Given the description of an element on the screen output the (x, y) to click on. 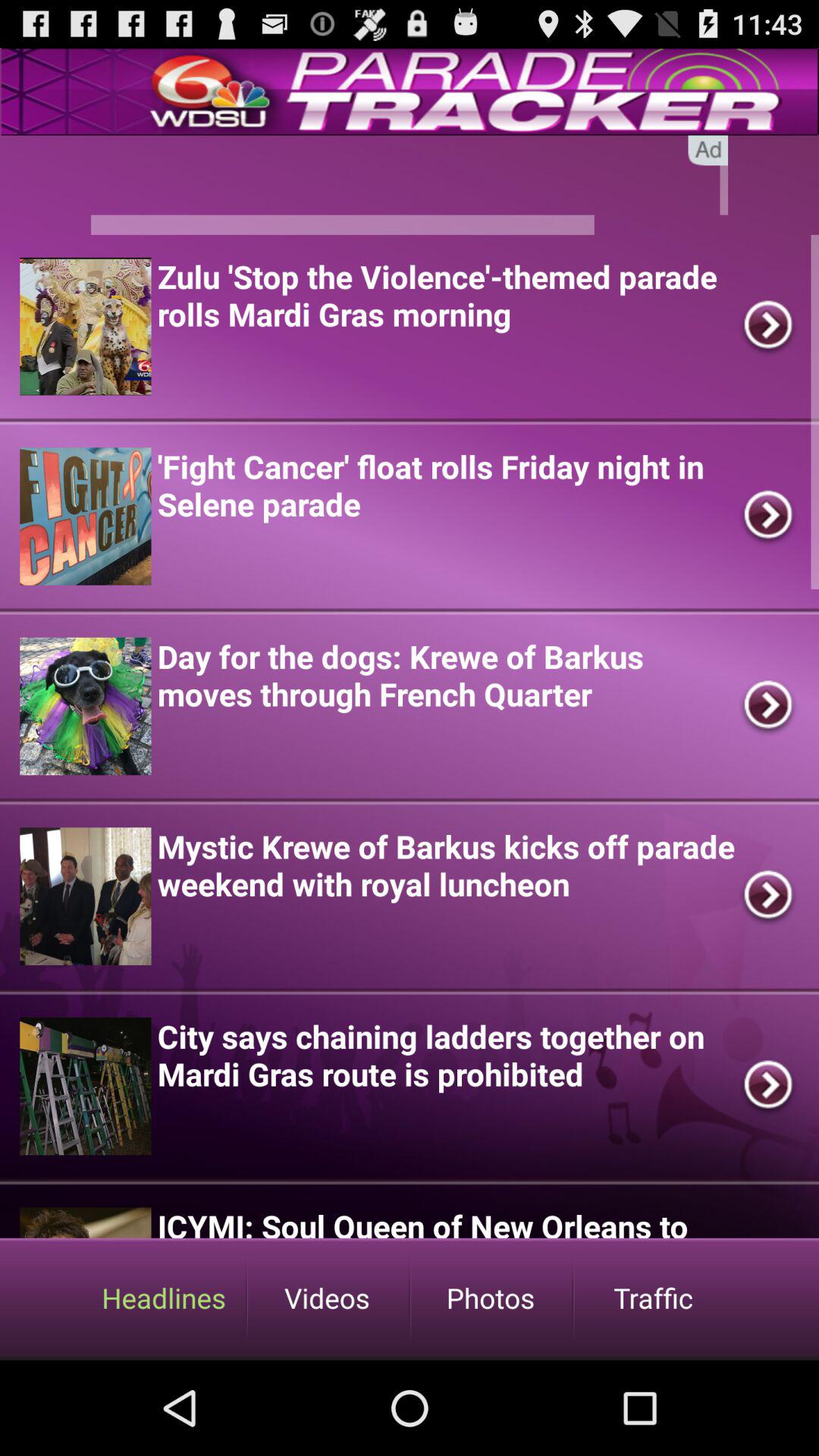
searching page (409, 184)
